Given the description of an element on the screen output the (x, y) to click on. 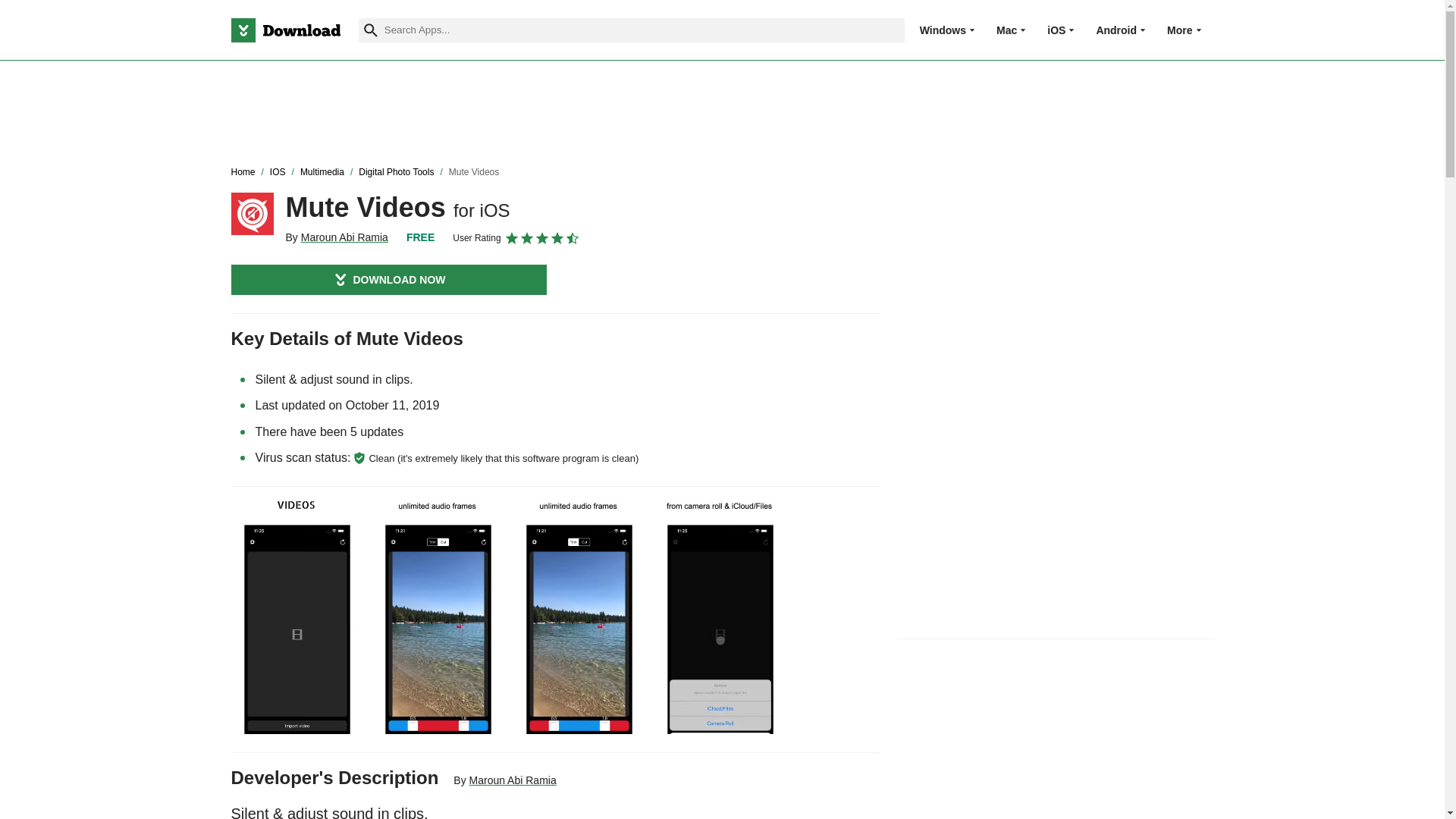
Mute Videos for iOS (251, 213)
Mac (1005, 29)
Windows (943, 29)
